Given the description of an element on the screen output the (x, y) to click on. 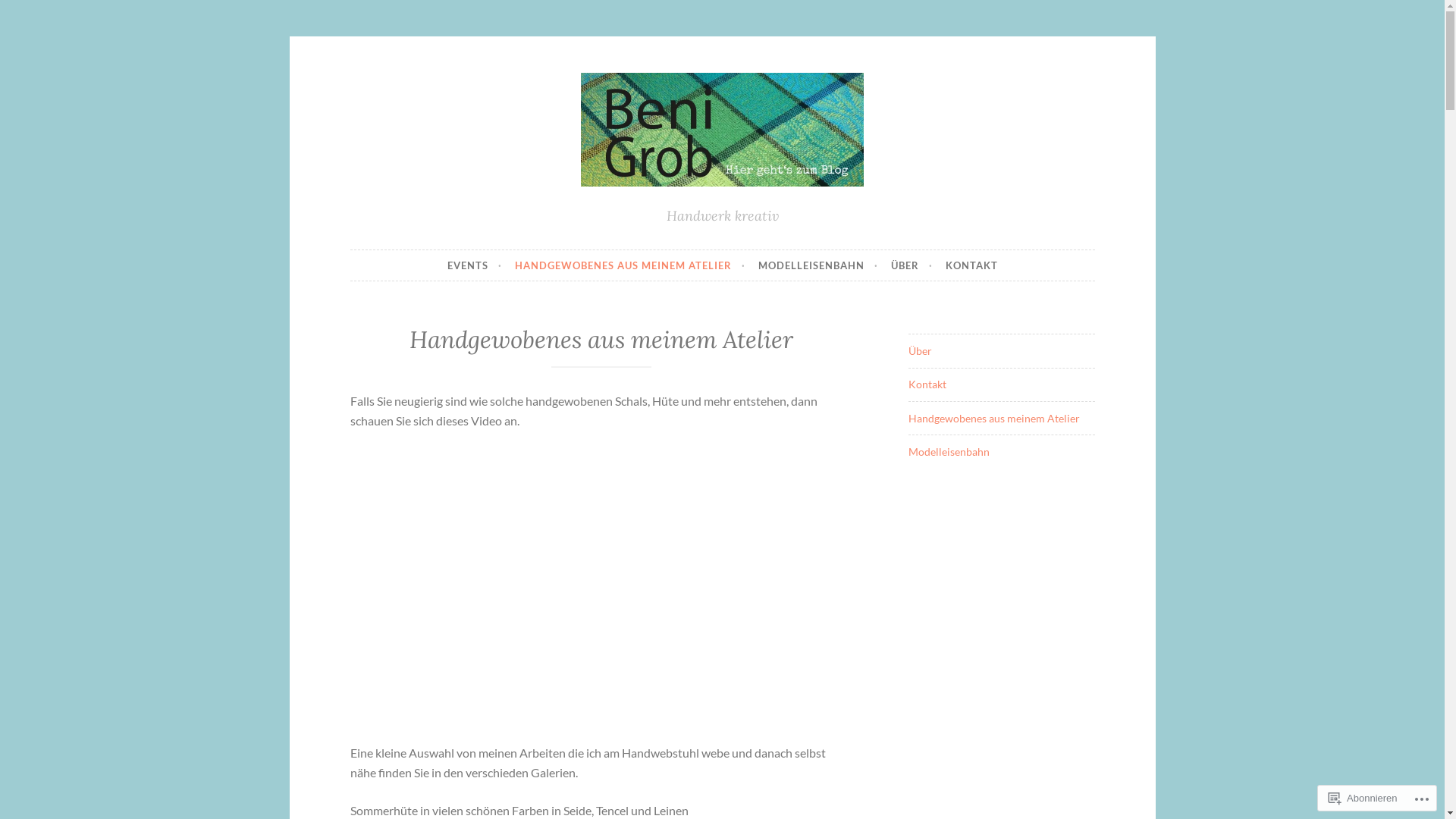
Modelleisenbahn Element type: text (948, 451)
Handgewobenes aus meinem Atelier Element type: text (993, 417)
KONTAKT Element type: text (970, 265)
Kontakt Element type: text (927, 383)
EVENTS Element type: text (474, 265)
Abonnieren Element type: text (1362, 797)
HANDGEWOBENES AUS MEINEM ATELIER Element type: text (629, 265)
MODELLEISENBAHN Element type: text (818, 265)
